Given the description of an element on the screen output the (x, y) to click on. 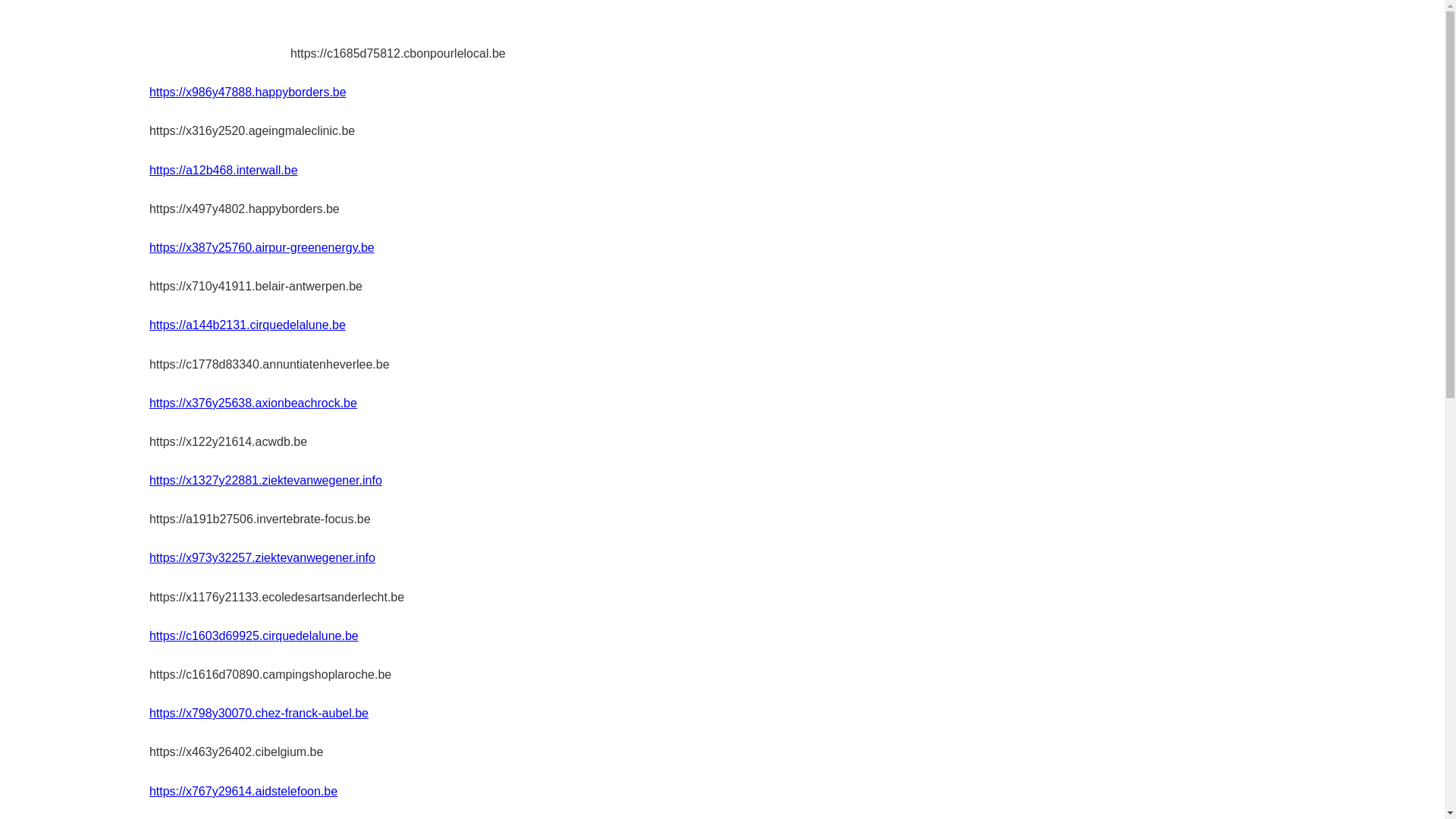
https://a12b468.interwall.be Element type: text (223, 169)
https://x1327y22881.ziektevanwegener.info Element type: text (265, 479)
https://x973y32257.ziektevanwegener.info Element type: text (262, 557)
https://x798y30070.chez-franck-aubel.be Element type: text (258, 712)
https://x767y29614.aidstelefoon.be Element type: text (243, 790)
https://c1603d69925.cirquedelalune.be Element type: text (253, 635)
https://x986y47888.happyborders.be Element type: text (247, 91)
https://x376y25638.axionbeachrock.be Element type: text (253, 402)
acoumen.be Element type: text (219, 34)
https://x387y25760.airpur-greenenergy.be Element type: text (261, 247)
https://a144b2131.cirquedelalune.be Element type: text (247, 324)
